Given the description of an element on the screen output the (x, y) to click on. 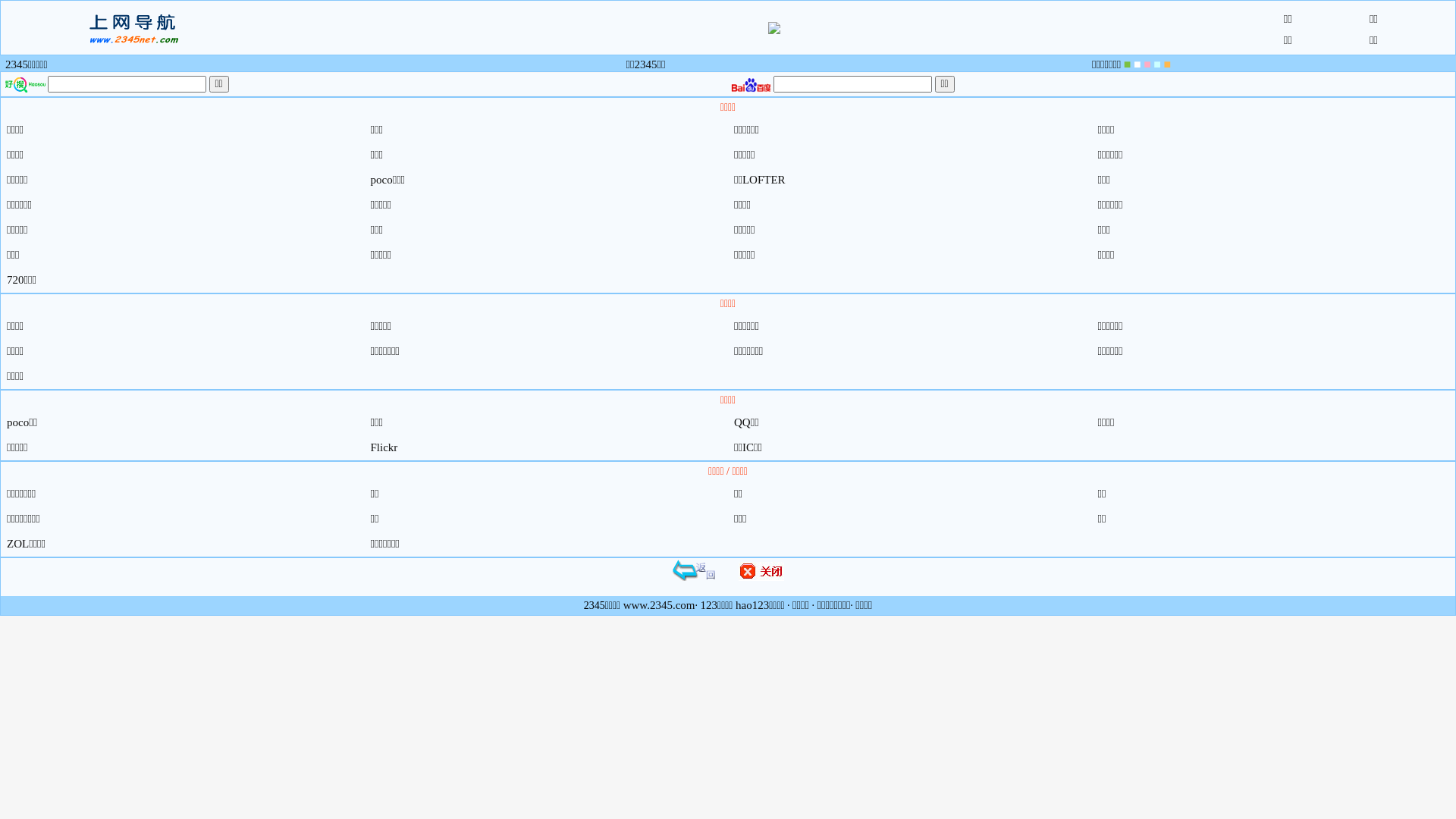
2345 Element type: text (16, 64)
www.2345.com Element type: text (659, 605)
Flickr Element type: text (383, 447)
123 Element type: text (709, 605)
hao123 Element type: text (751, 605)
